Given the description of an element on the screen output the (x, y) to click on. 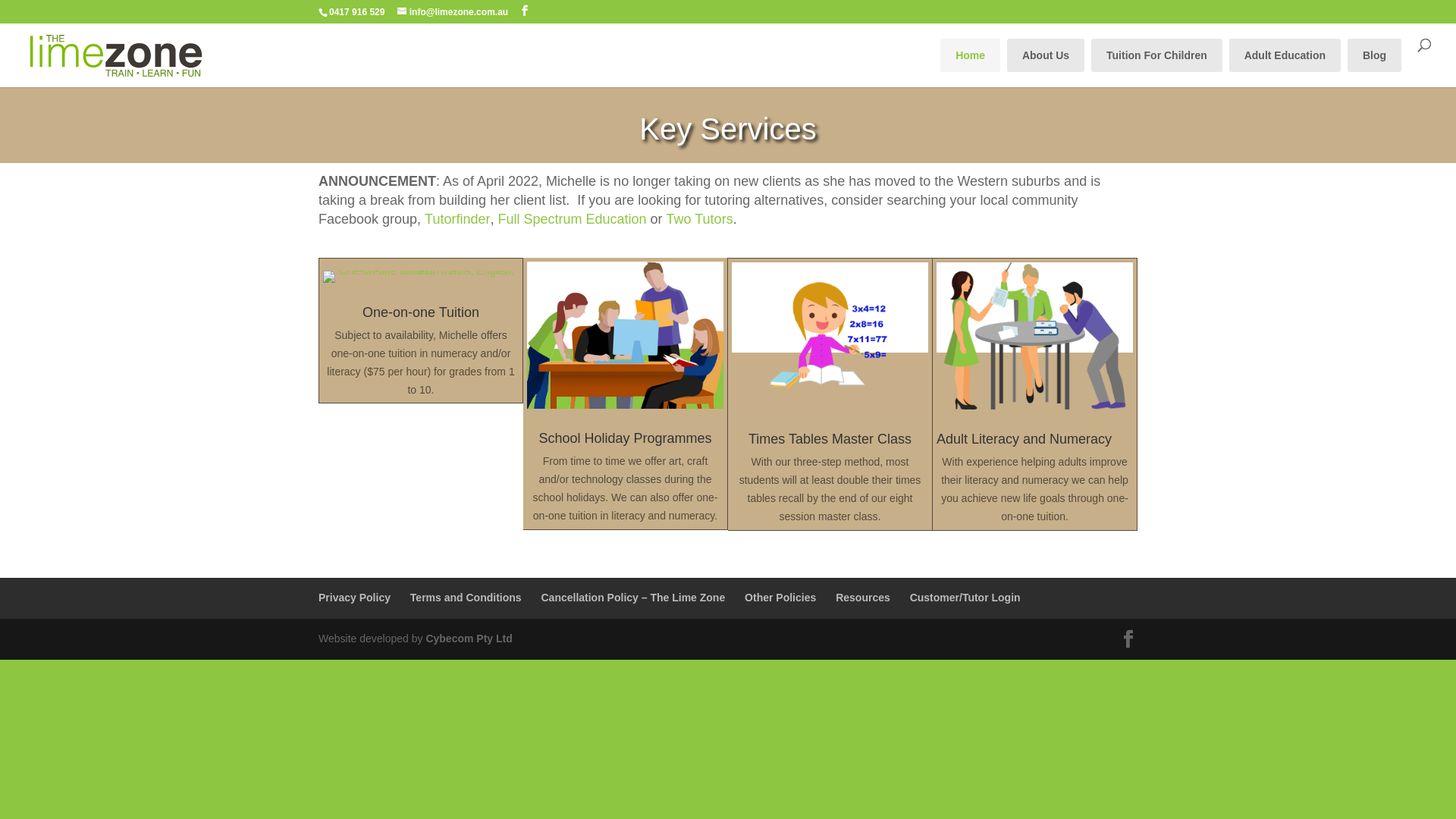
About Us Element type: text (1045, 55)
Tuition For Children Element type: text (1156, 55)
Times Tables Master Class Element type: text (829, 438)
Terms and Conditions Element type: text (465, 597)
Adult Literacy and Numeracy Element type: text (1023, 438)
One-on-one Tuition Element type: text (420, 312)
Home Element type: text (970, 55)
Two Tutors Element type: text (699, 218)
Resources Element type: text (862, 597)
info@limezone.com.au Element type: text (452, 11)
Tutorfinder Element type: text (456, 218)
Adult Education Element type: text (1284, 55)
Customer/Tutor Login Element type: text (965, 597)
Cybecom Pty Ltd Element type: text (468, 638)
School Holiday Programmes Element type: text (624, 437)
Full Spectrum Education Element type: text (571, 218)
Other Policies Element type: text (779, 597)
Blog Element type: text (1374, 55)
Privacy Policy Element type: text (354, 597)
